Given the description of an element on the screen output the (x, y) to click on. 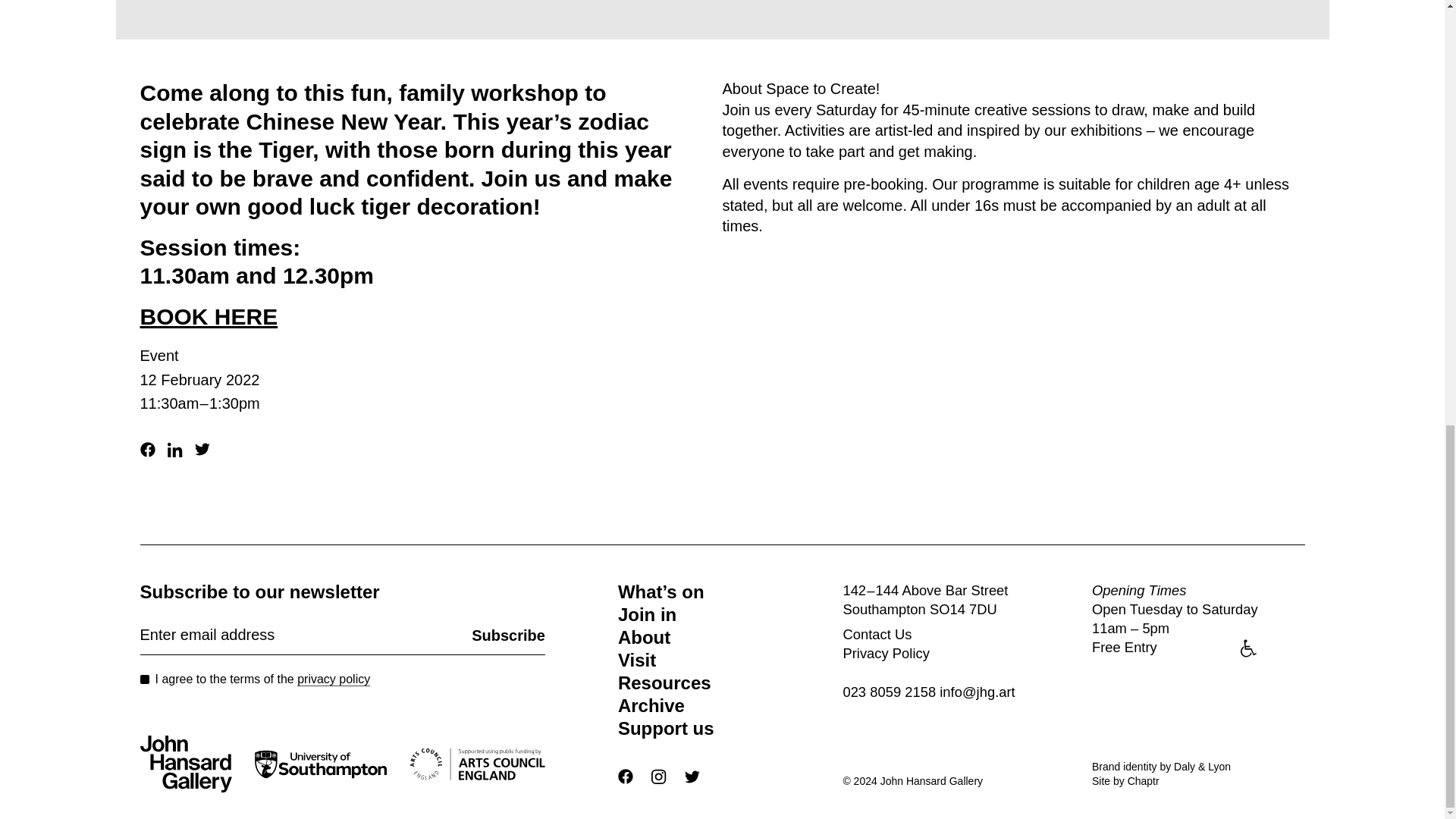
privacy policy (333, 679)
About (730, 637)
Subscribe (507, 633)
BOOK HERE (208, 315)
Subscribe (507, 633)
Join in (730, 614)
